Given the description of an element on the screen output the (x, y) to click on. 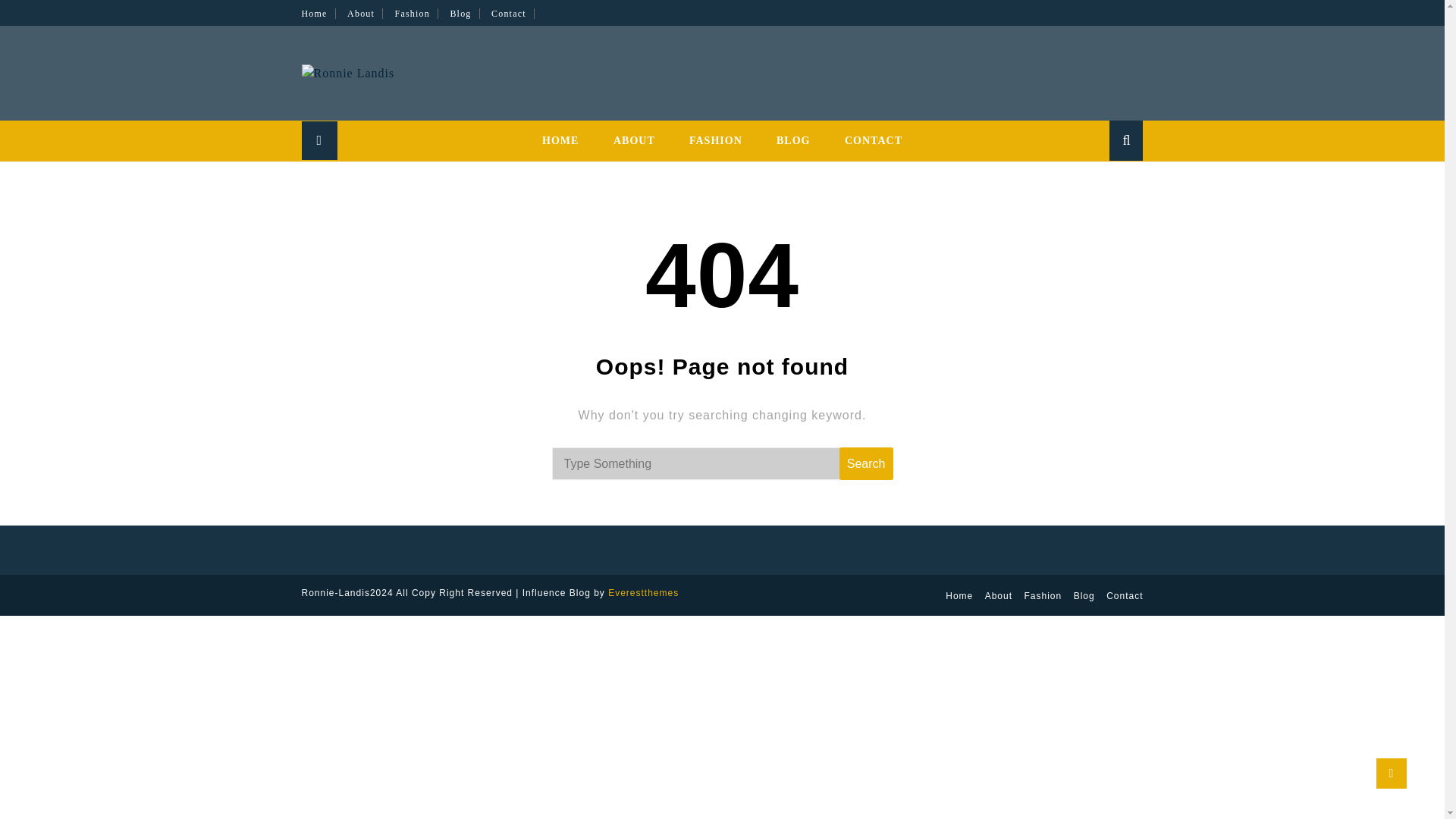
BLOG (793, 140)
About (998, 595)
HOME (560, 140)
Everestthemes (643, 593)
Fashion (416, 13)
Home (958, 595)
Blog (1084, 595)
Search (1104, 182)
Search (866, 463)
Home (318, 13)
Ronnie Landis (452, 107)
FASHION (715, 140)
CONTACT (873, 140)
Fashion (1042, 595)
Contact (1124, 595)
